Given the description of an element on the screen output the (x, y) to click on. 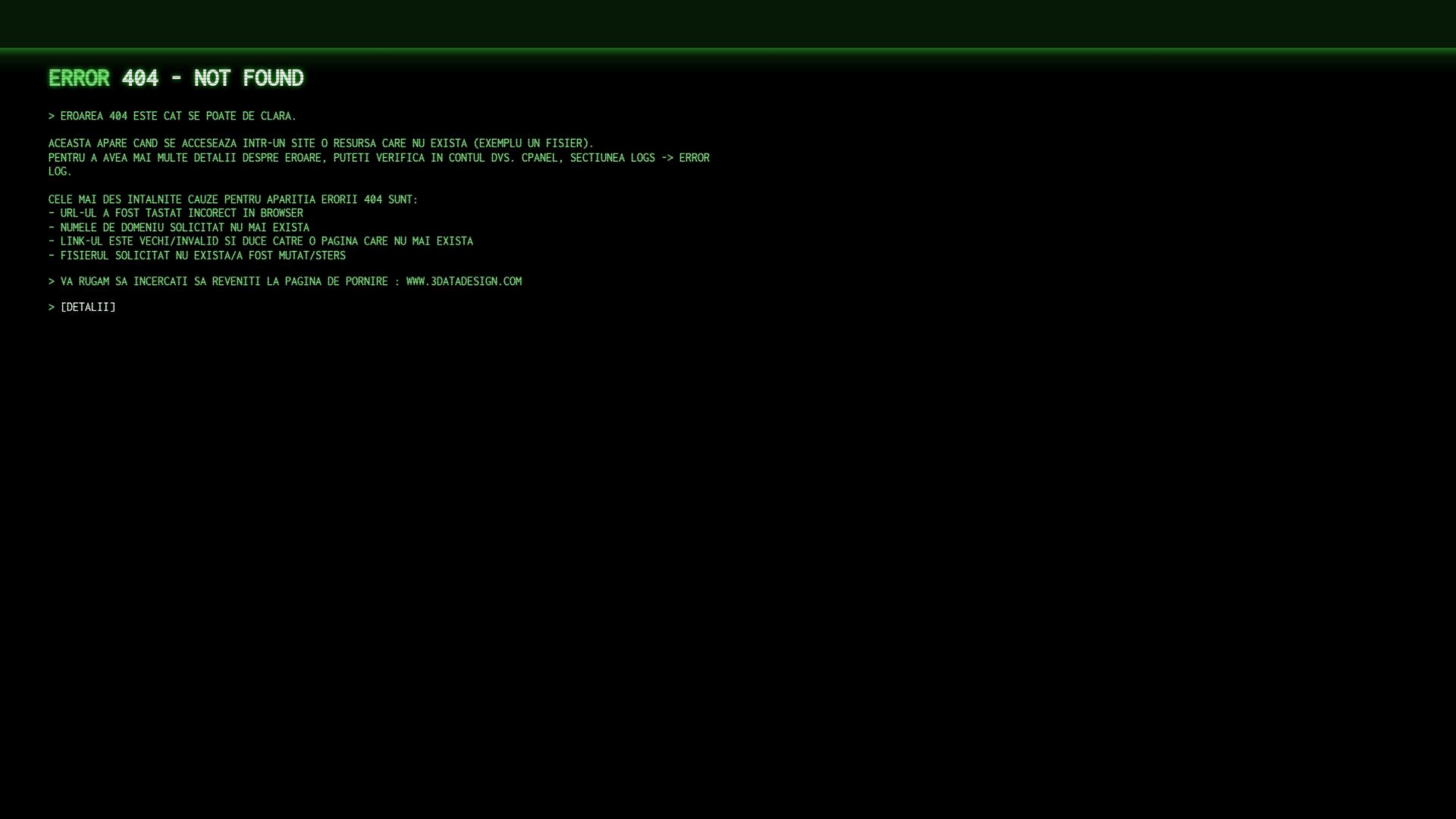
DETALII Element type: text (87, 306)
